Given the description of an element on the screen output the (x, y) to click on. 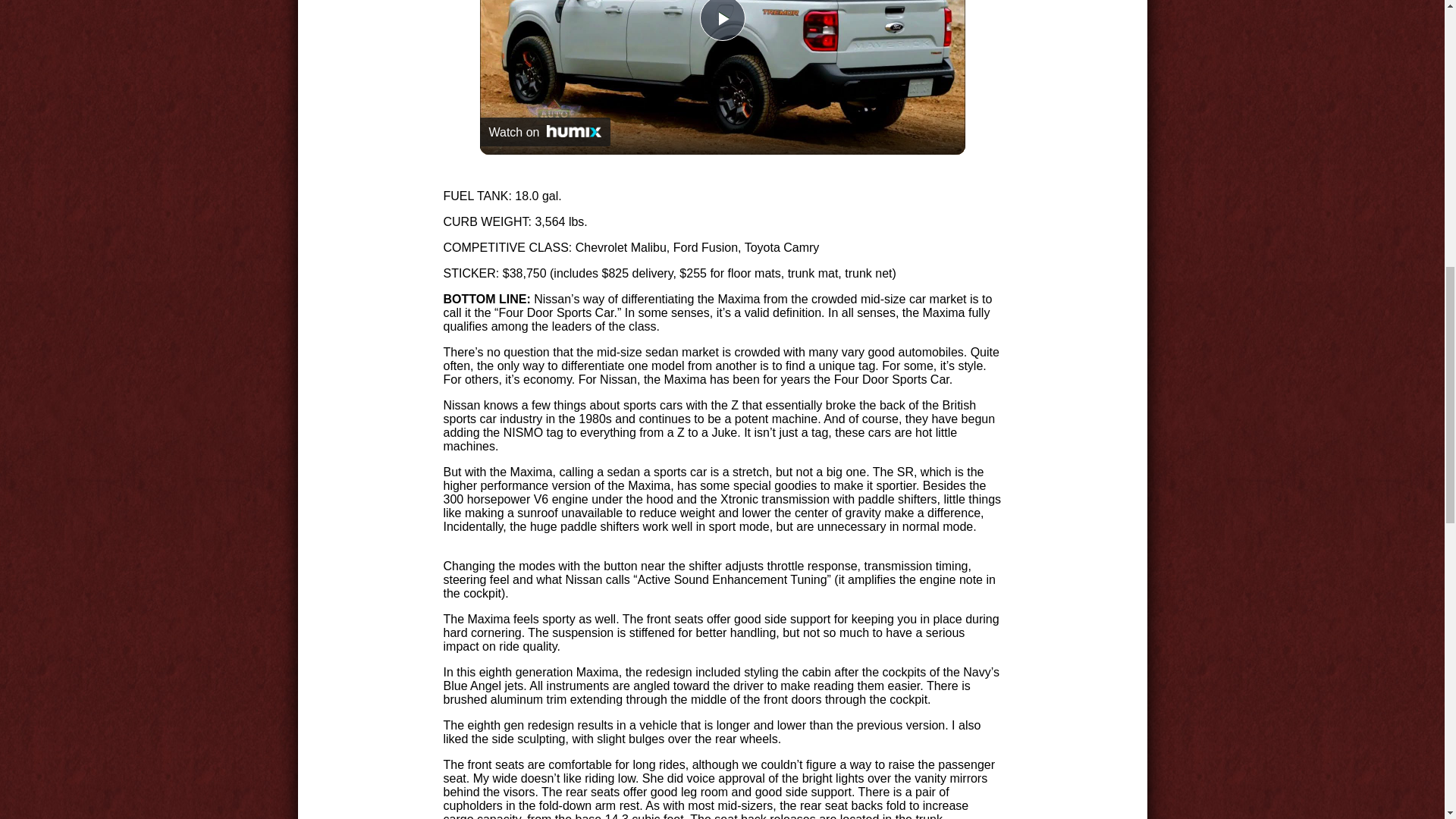
Watch on (544, 131)
Play Video (721, 20)
Play Video (721, 20)
